Given the description of an element on the screen output the (x, y) to click on. 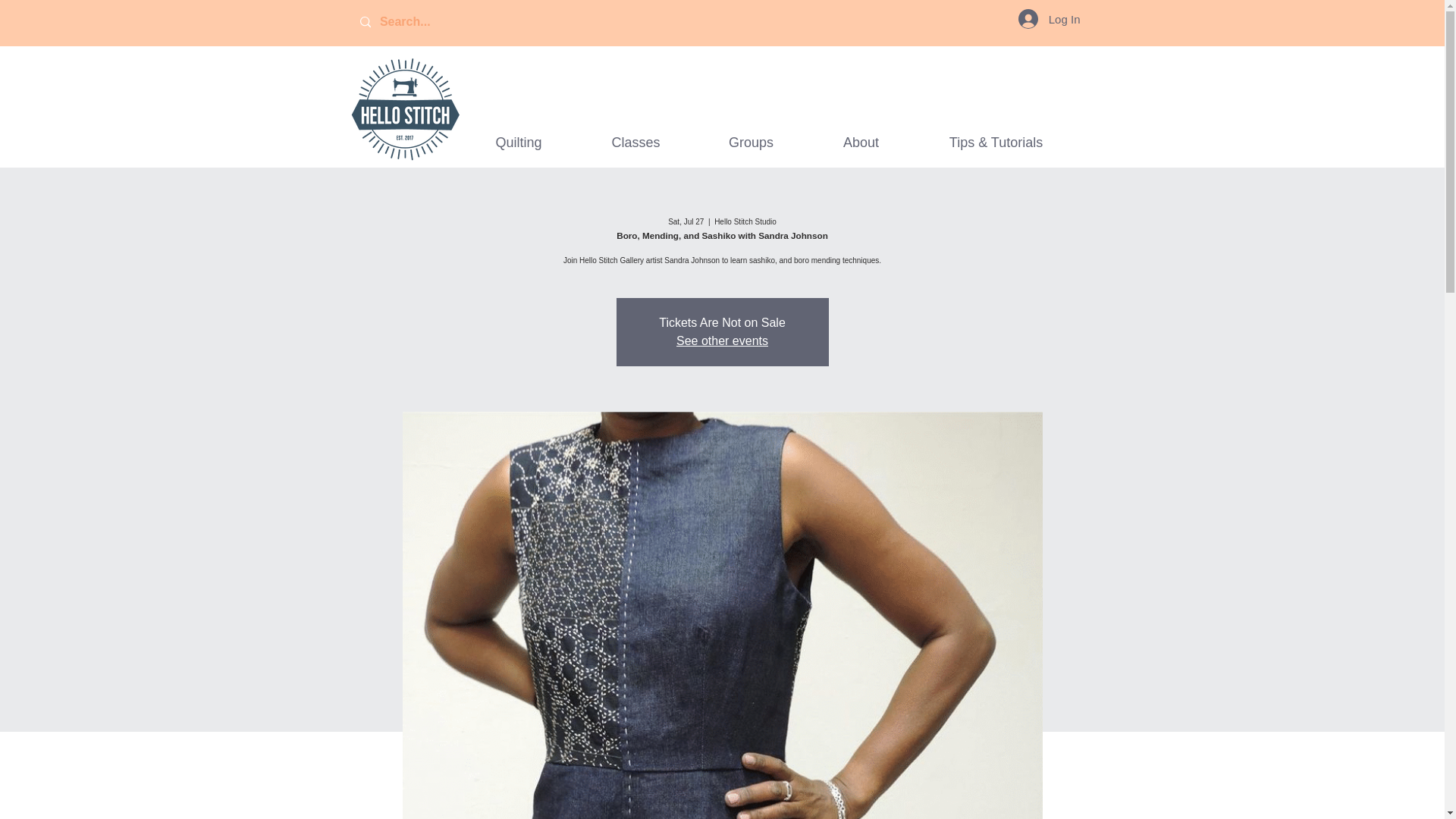
Log In (1048, 18)
See other events (722, 340)
Classes (636, 142)
Quilting (518, 142)
About (861, 142)
